Given the description of an element on the screen output the (x, y) to click on. 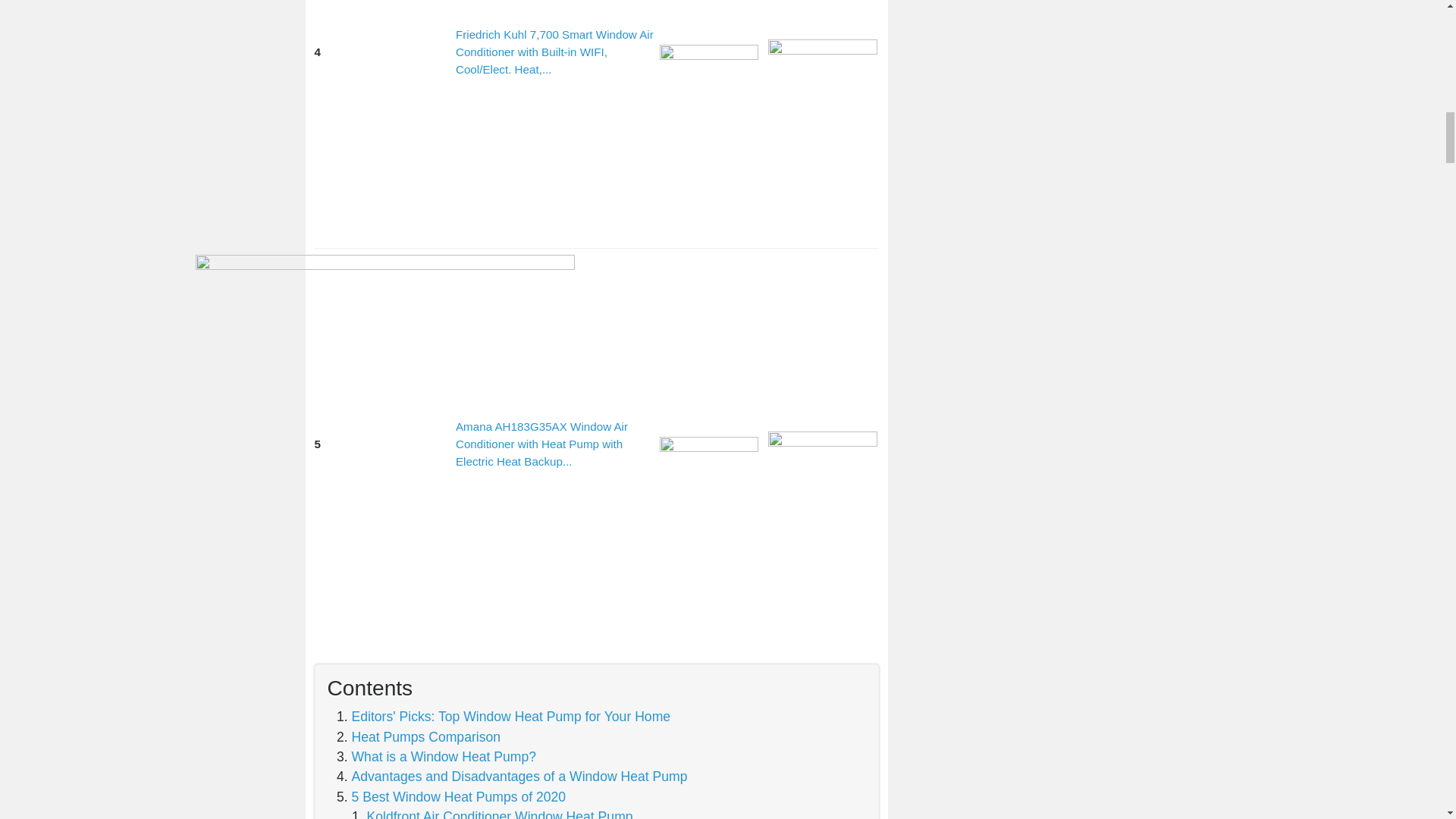
Heat Pumps Comparison (426, 736)
Editors' Picks: Top Window Heat Pump for Your Home (511, 716)
5 Best Window Heat Pumps of 2020 (459, 796)
Koldfront Air Conditioner Window Heat Pump (499, 814)
What is a Window Heat Pump? (443, 756)
Advantages and Disadvantages of a Window Heat Pump (519, 776)
